Given the description of an element on the screen output the (x, y) to click on. 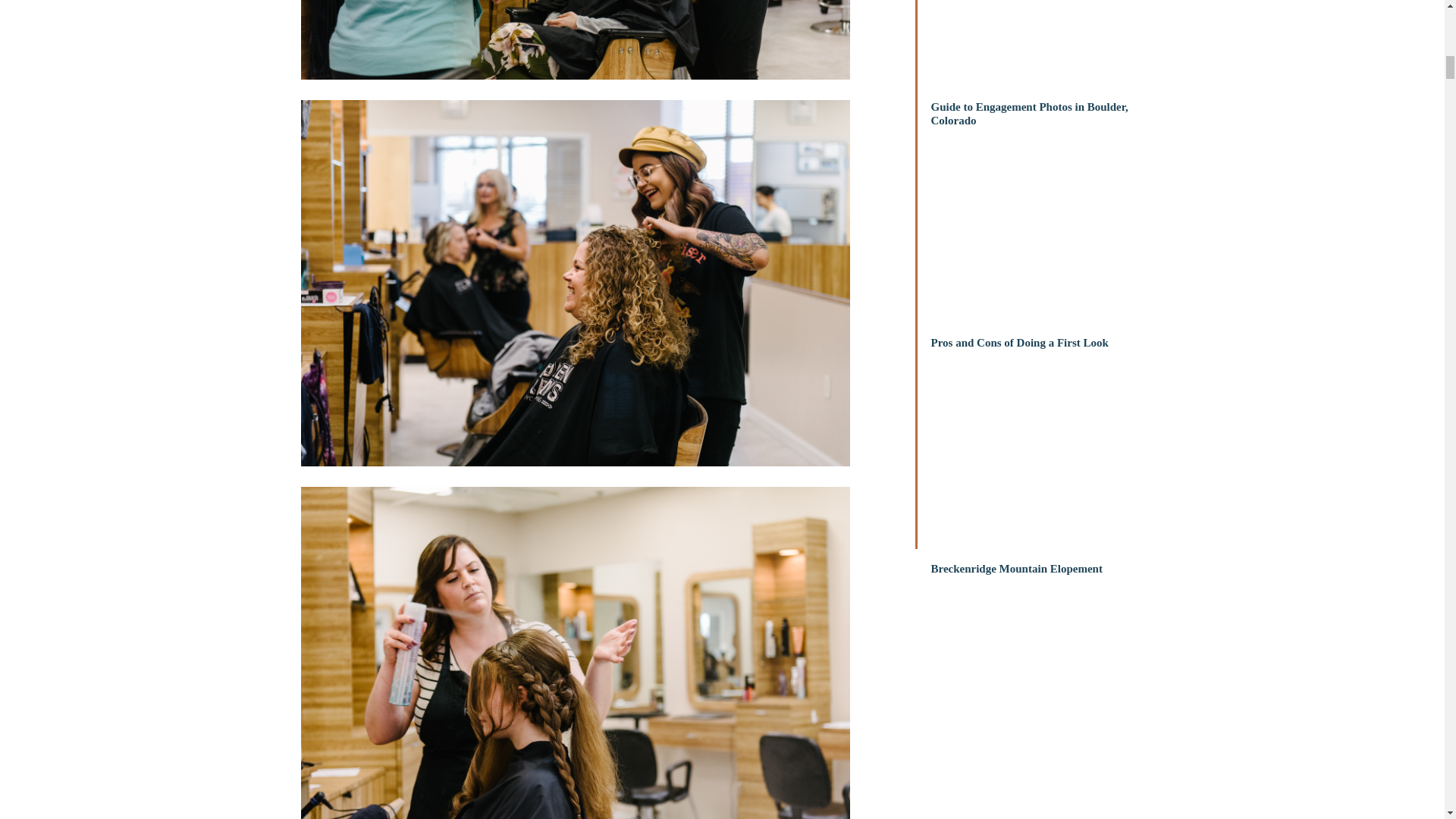
Breckenridge Mountain Elopement (1044, 590)
Guide to Engagement Photos in Boulder, Colorado (1044, 128)
Pros and Cons of Doing a First Look (1044, 364)
